Given the description of an element on the screen output the (x, y) to click on. 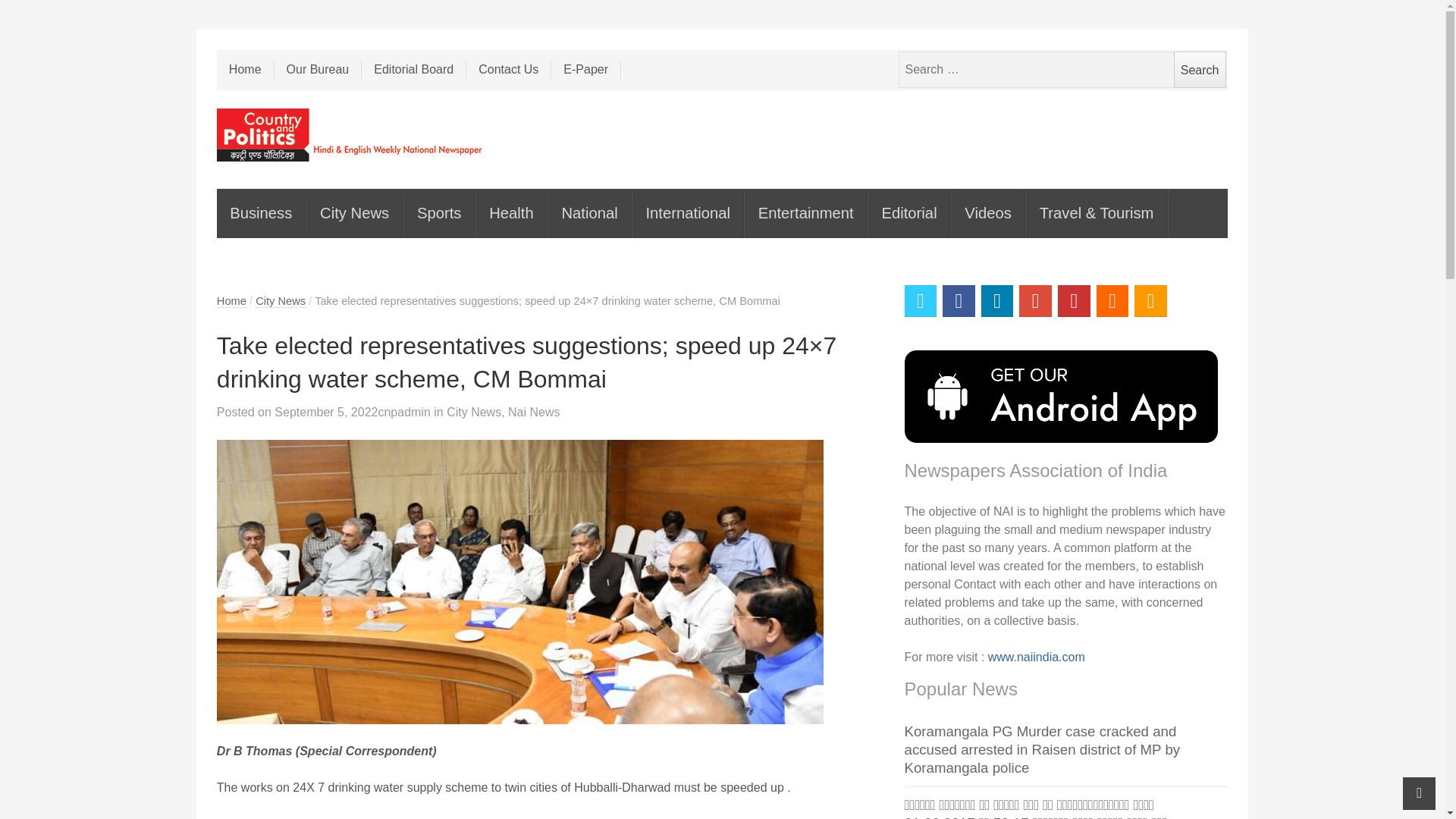
National (589, 213)
September 5, 2022 (326, 411)
Entertainment (805, 213)
E-Paper (586, 69)
Videos (988, 213)
Home (231, 300)
Editorial (908, 213)
Country and Politics (350, 134)
City News (355, 213)
Home (245, 69)
2:40 pm (326, 411)
View all posts by cnpadmin (403, 411)
Search (1199, 69)
International (687, 213)
Nai News (533, 411)
